Given the description of an element on the screen output the (x, y) to click on. 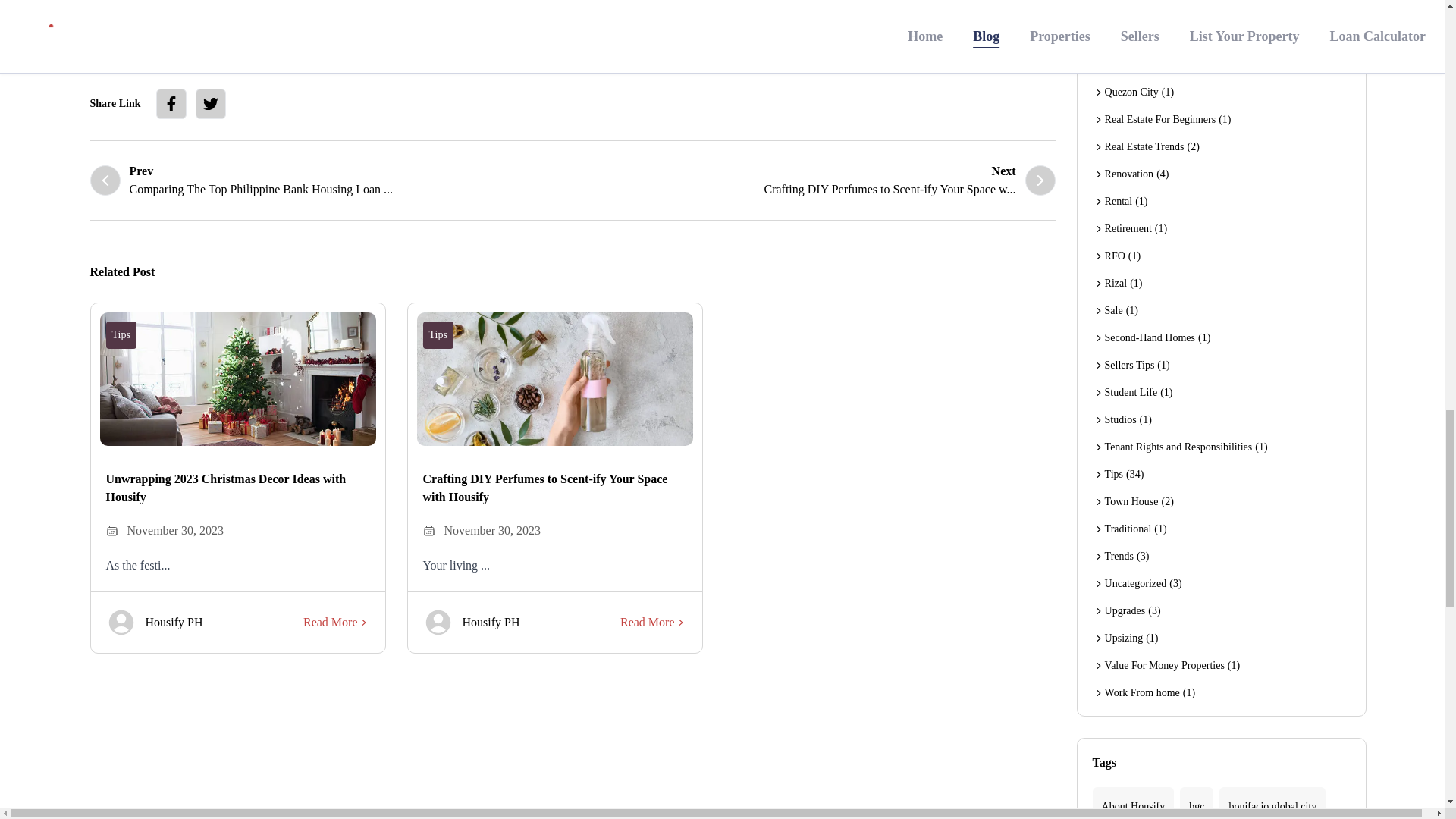
Read More (653, 622)
Crafting DIY Perfumes to Scent-ify Your Space with Housify (555, 488)
housify.ph (471, 12)
Read More (330, 180)
Unwrapping 2023 Christmas Decor Ideas with Housify (813, 180)
